Given the description of an element on the screen output the (x, y) to click on. 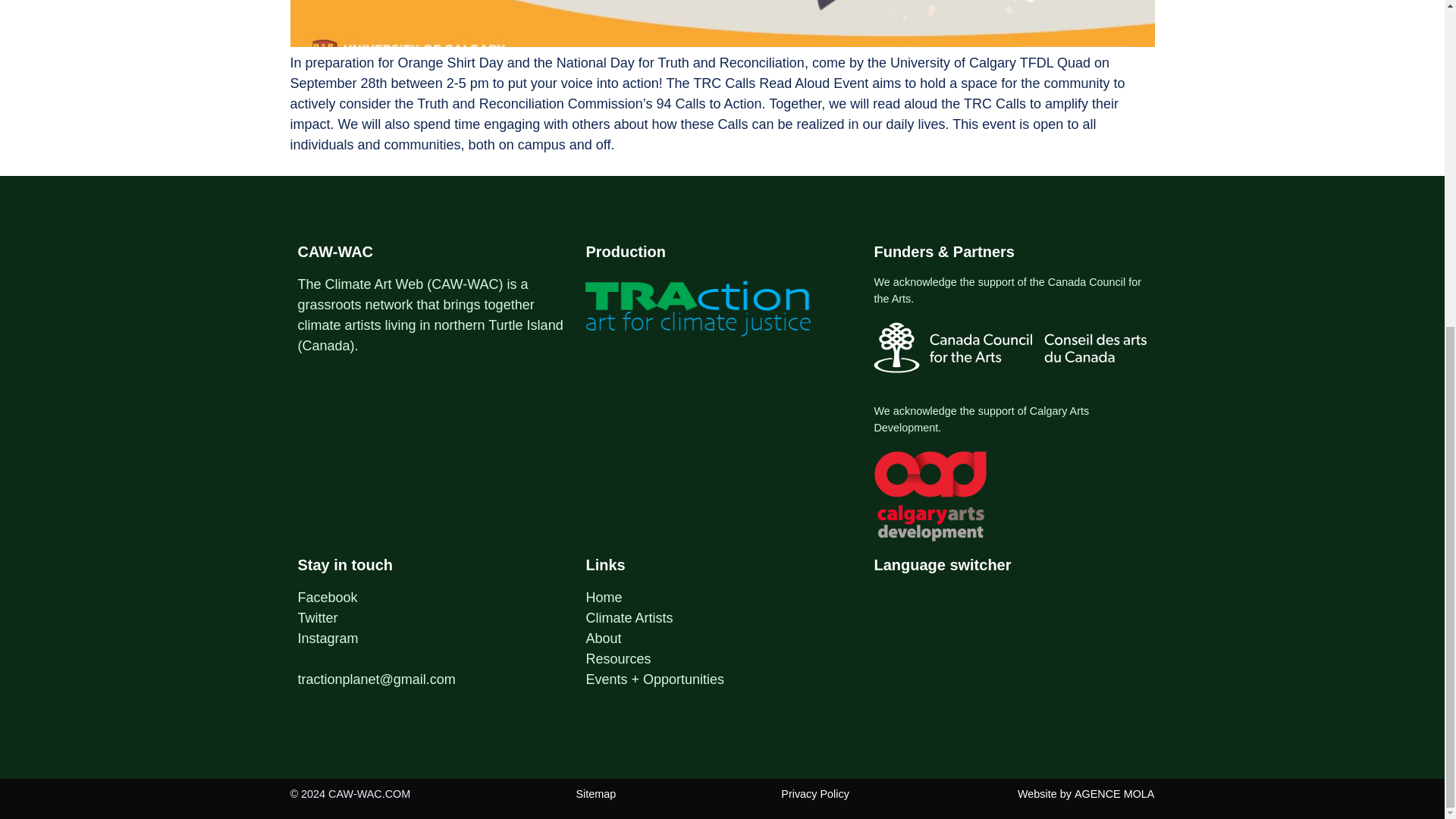
Twitter (317, 617)
Instagram (327, 638)
Resources (617, 658)
Home (603, 597)
Climate Artists (628, 617)
Sitemap (595, 793)
Privacy Policy (814, 793)
About (603, 638)
AGENCE MOLA (1114, 793)
Facebook (326, 597)
